Given the description of an element on the screen output the (x, y) to click on. 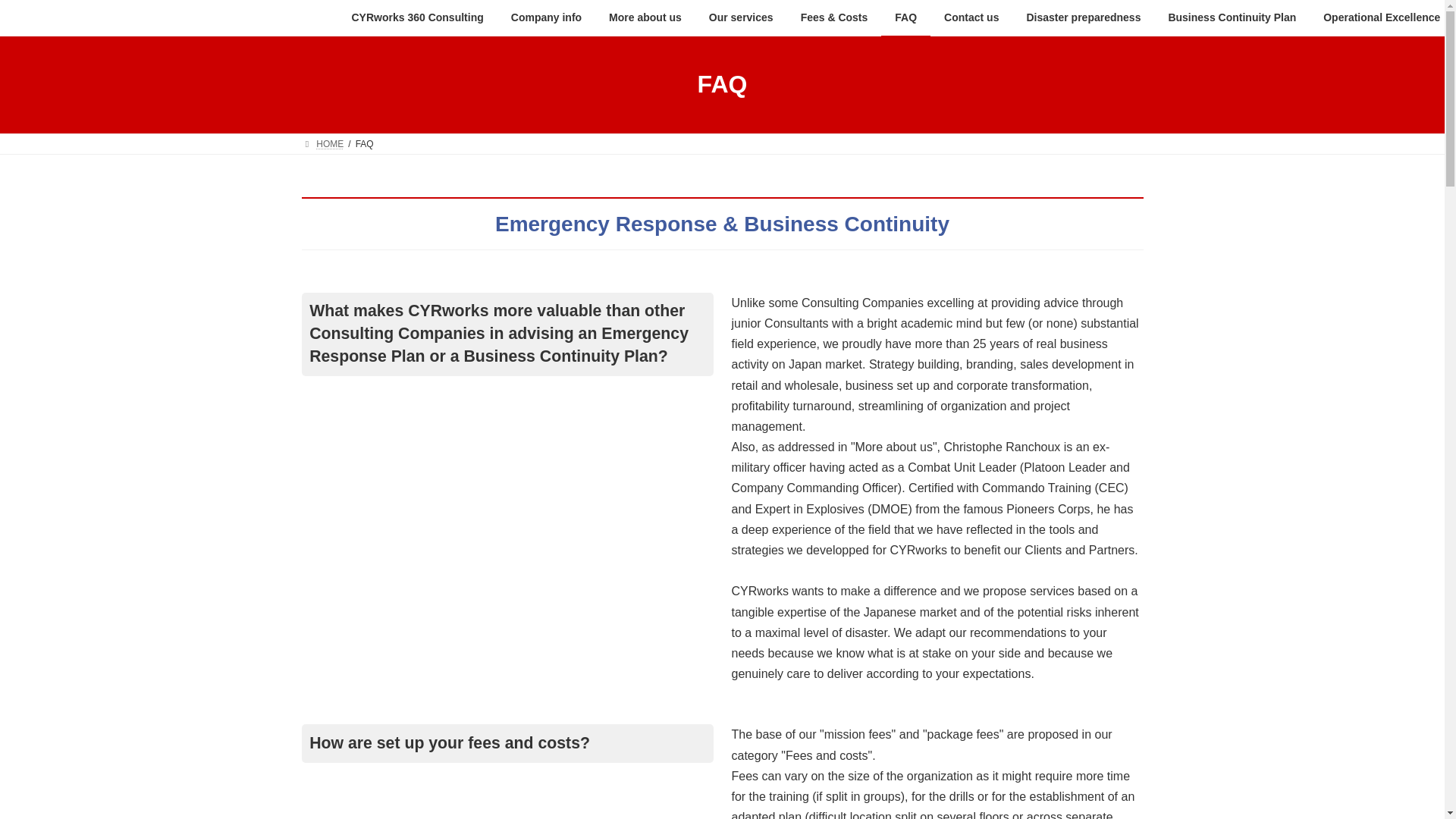
Our services (741, 18)
FAQ (905, 18)
Company info (546, 18)
Business Continuity Plan (1231, 18)
CYRworks 360 Consulting (417, 18)
Contact us (970, 18)
More about us (645, 18)
Disaster preparedness (1082, 18)
HOME (322, 143)
